Given the description of an element on the screen output the (x, y) to click on. 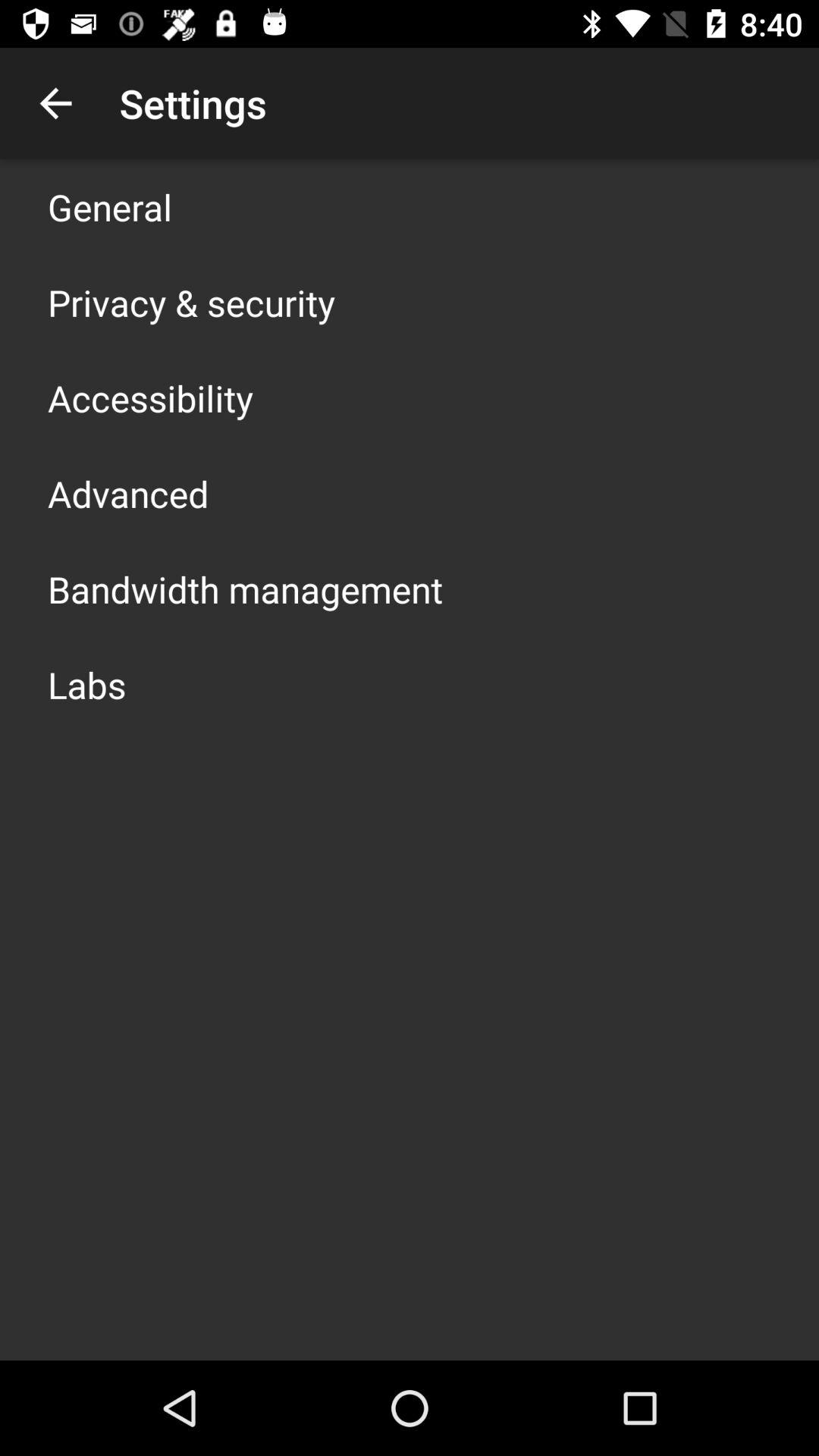
open labs app (86, 684)
